Given the description of an element on the screen output the (x, y) to click on. 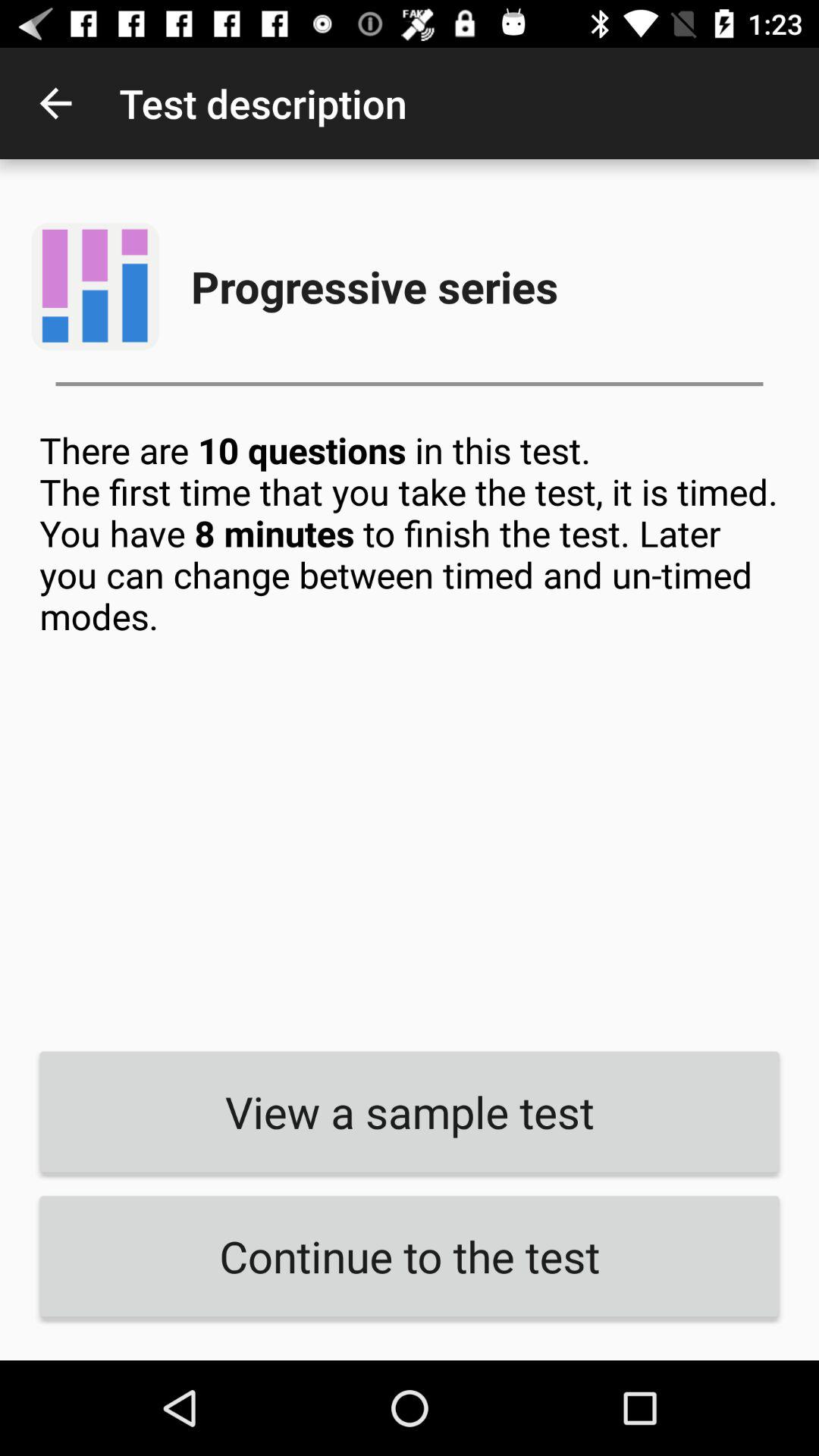
swipe to the there are 10 (409, 728)
